Given the description of an element on the screen output the (x, y) to click on. 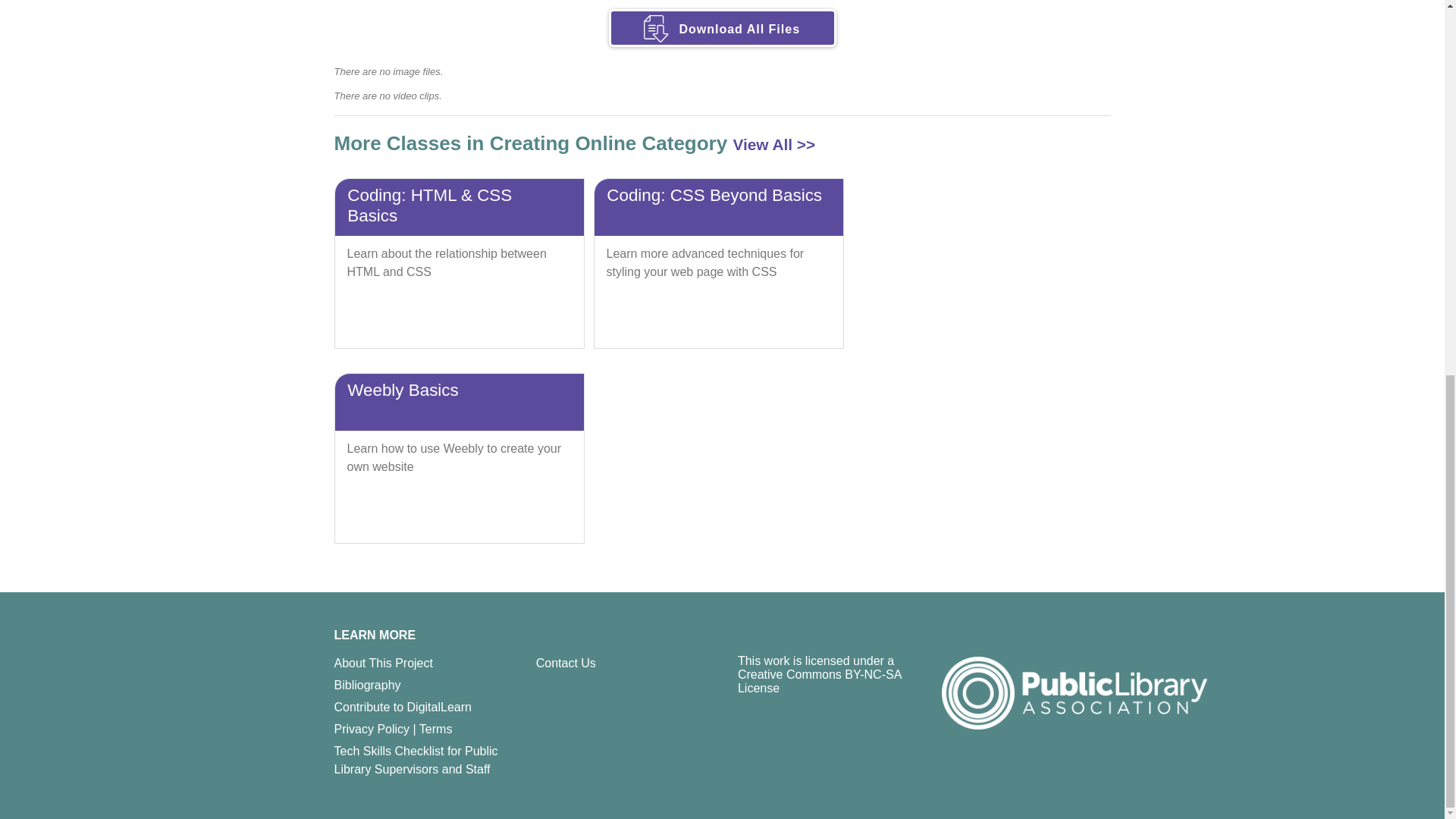
About This Project (382, 662)
Download All Files (721, 47)
Contribute to DigitalLearn (401, 707)
Download All Files (721, 27)
Bibliography (366, 684)
Contact Us (565, 662)
